Given the description of an element on the screen output the (x, y) to click on. 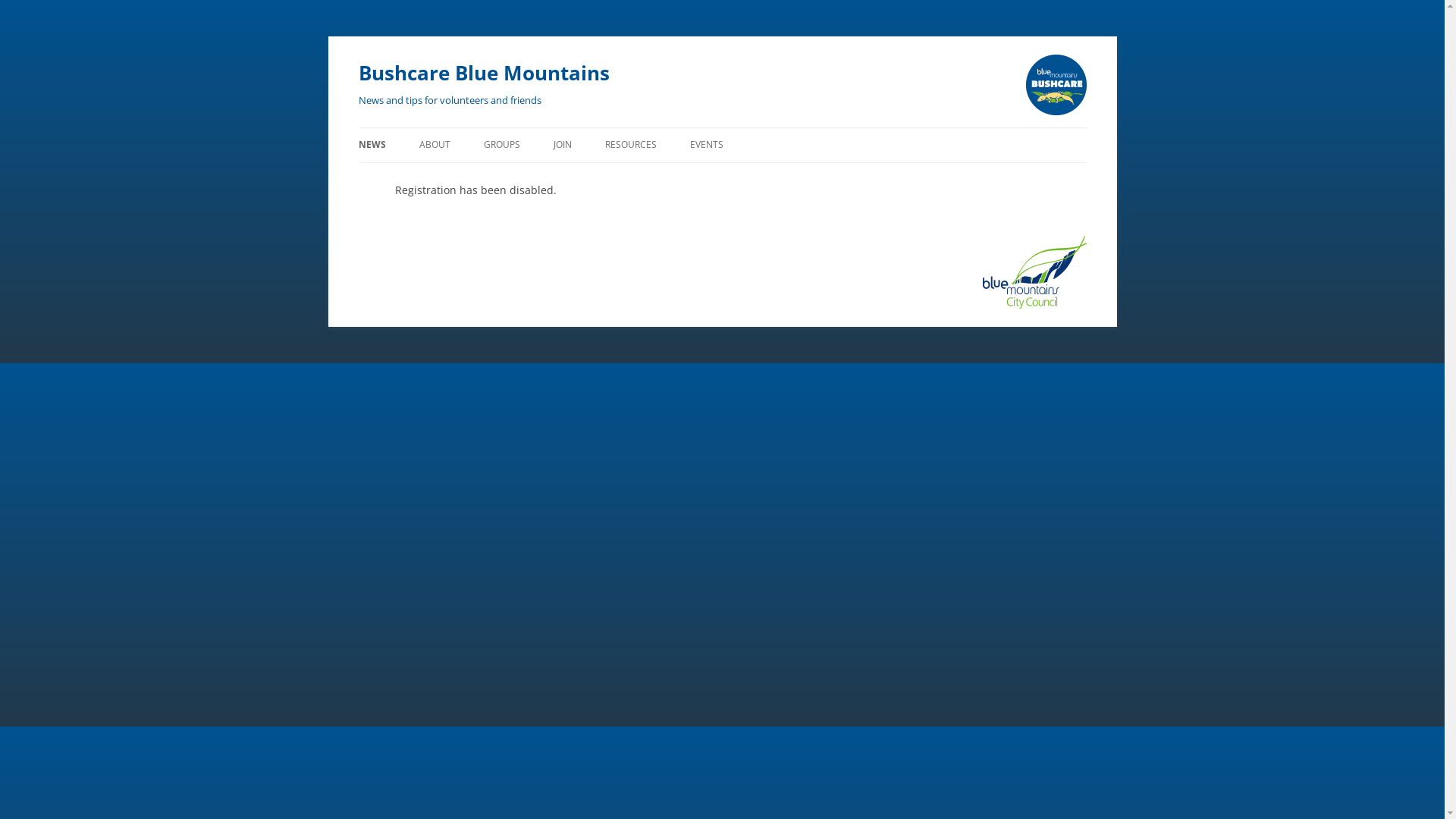
EVENTS Element type: text (706, 144)
NEWS Element type: text (371, 144)
Bushcare Blue Mountains Element type: text (482, 72)
RESOURCES Element type: text (630, 144)
GROUPS Element type: text (501, 144)
BUSHCARE MANUAL Element type: text (680, 177)
ABOUT Element type: text (433, 144)
SWAMPCARE Element type: text (494, 177)
Skip to content Element type: text (357, 145)
JOIN Element type: text (562, 144)
